Given the description of an element on the screen output the (x, y) to click on. 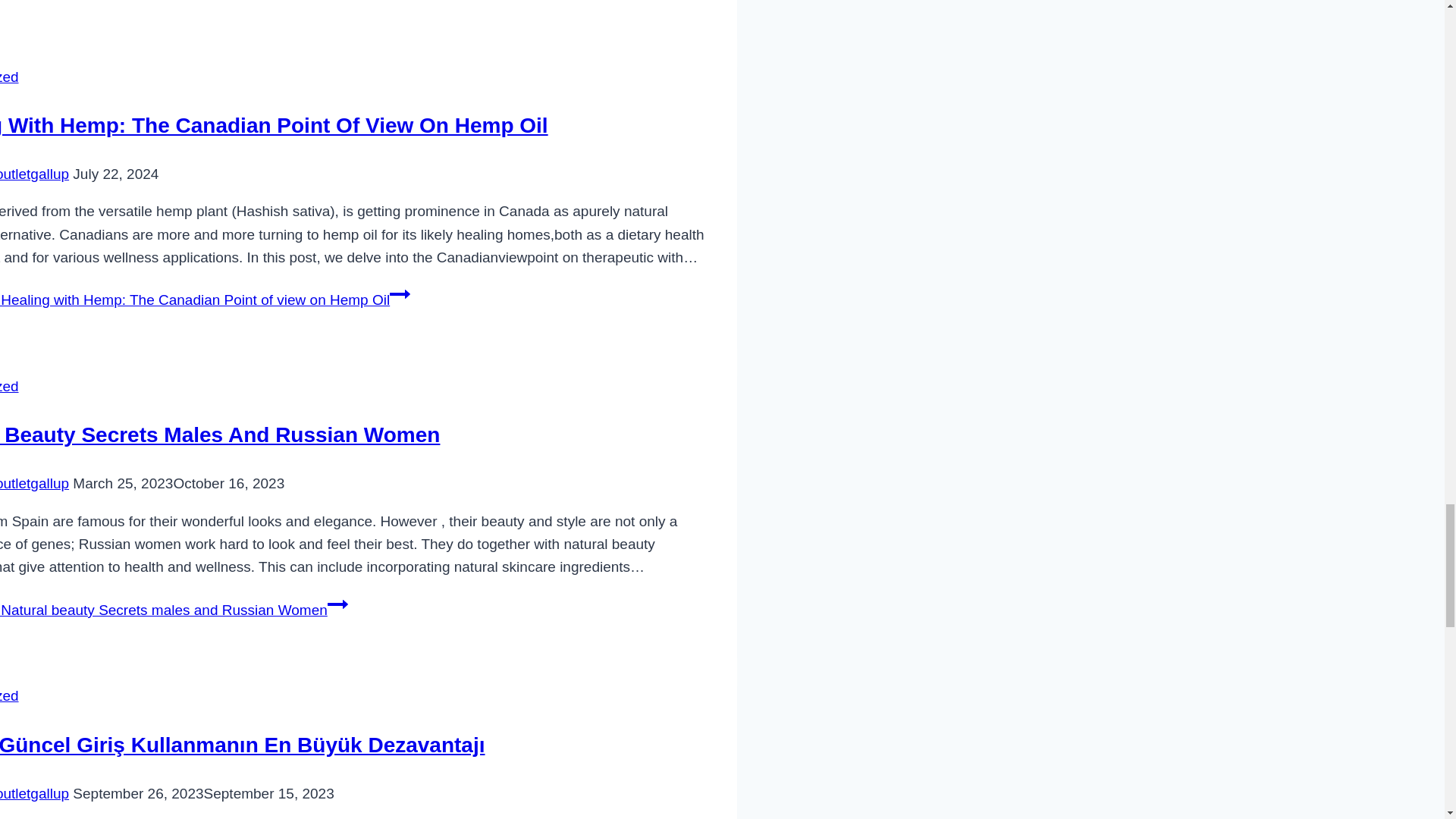
Continue (400, 293)
Uncategorized (9, 76)
Uncategorized (9, 695)
Natural Beauty Secrets Males And Russian Women (219, 434)
Continue (337, 604)
furnitureoutletgallup (34, 173)
furnitureoutletgallup (34, 483)
Uncategorized (9, 385)
furnitureoutletgallup (34, 793)
Healing With Hemp: The Canadian Point Of View On Hemp Oil (274, 125)
